Given the description of an element on the screen output the (x, y) to click on. 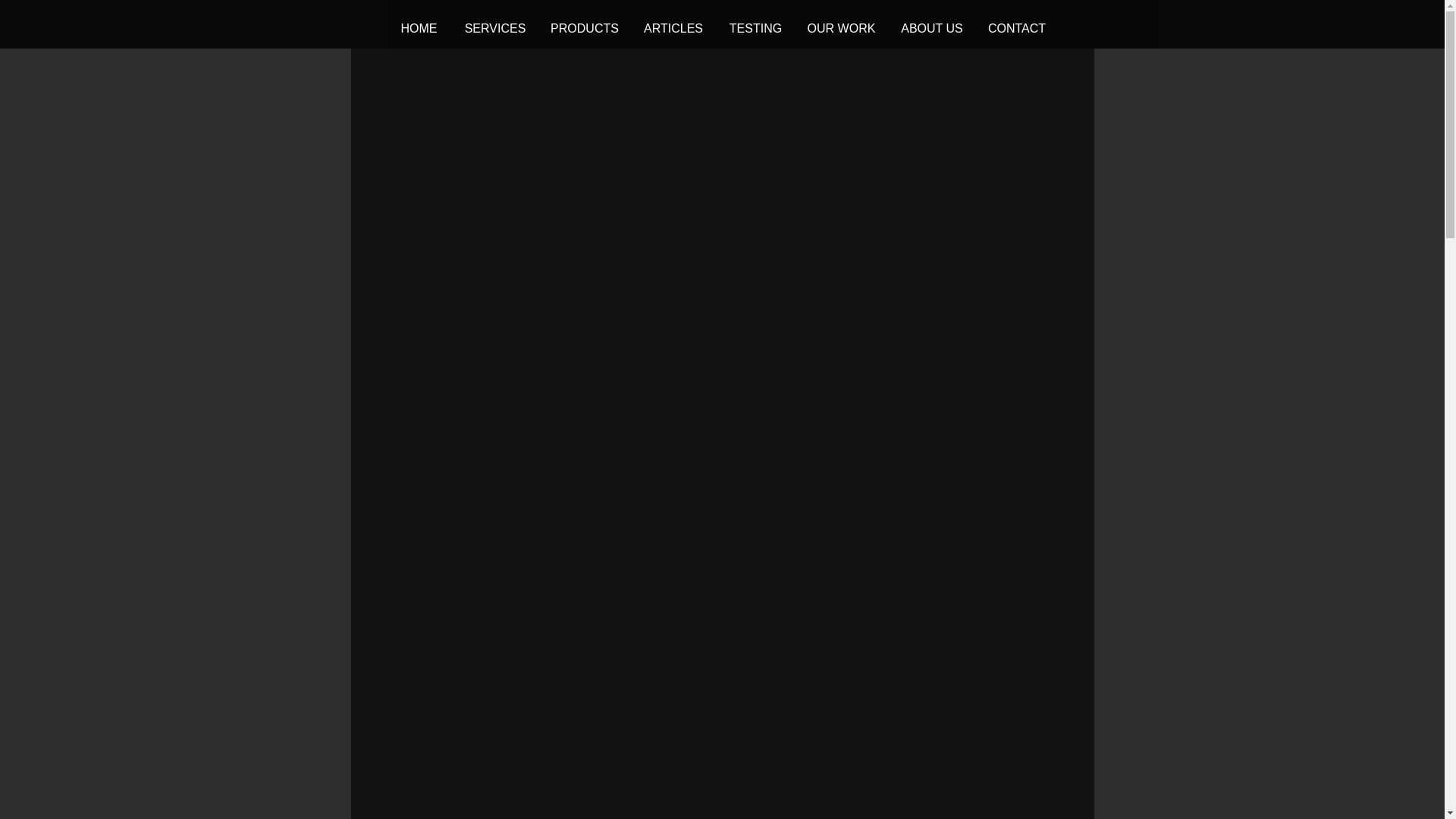
CONTACT (1017, 27)
PRODUCTS (584, 27)
SERVICES (494, 27)
ABOUT US (930, 27)
HOME (419, 27)
ARTICLES (673, 27)
TESTING (755, 27)
OUR WORK (840, 27)
